Given the description of an element on the screen output the (x, y) to click on. 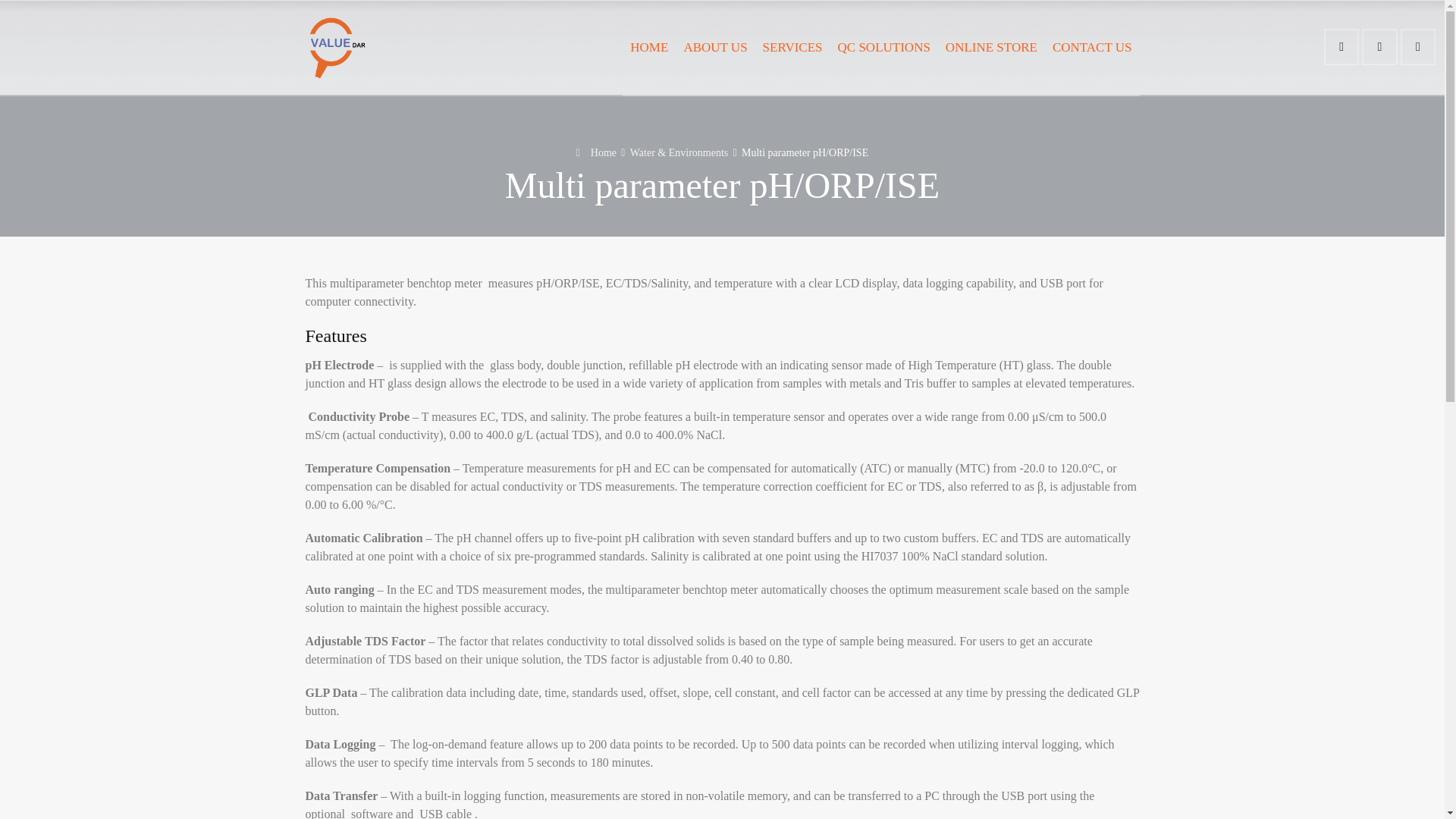
QC SOLUTIONS (883, 47)
CONTACT US (1092, 47)
Search (1418, 46)
Home (595, 152)
ONLINE STORE (991, 47)
Cart (1378, 46)
Login (1340, 46)
